Given the description of an element on the screen output the (x, y) to click on. 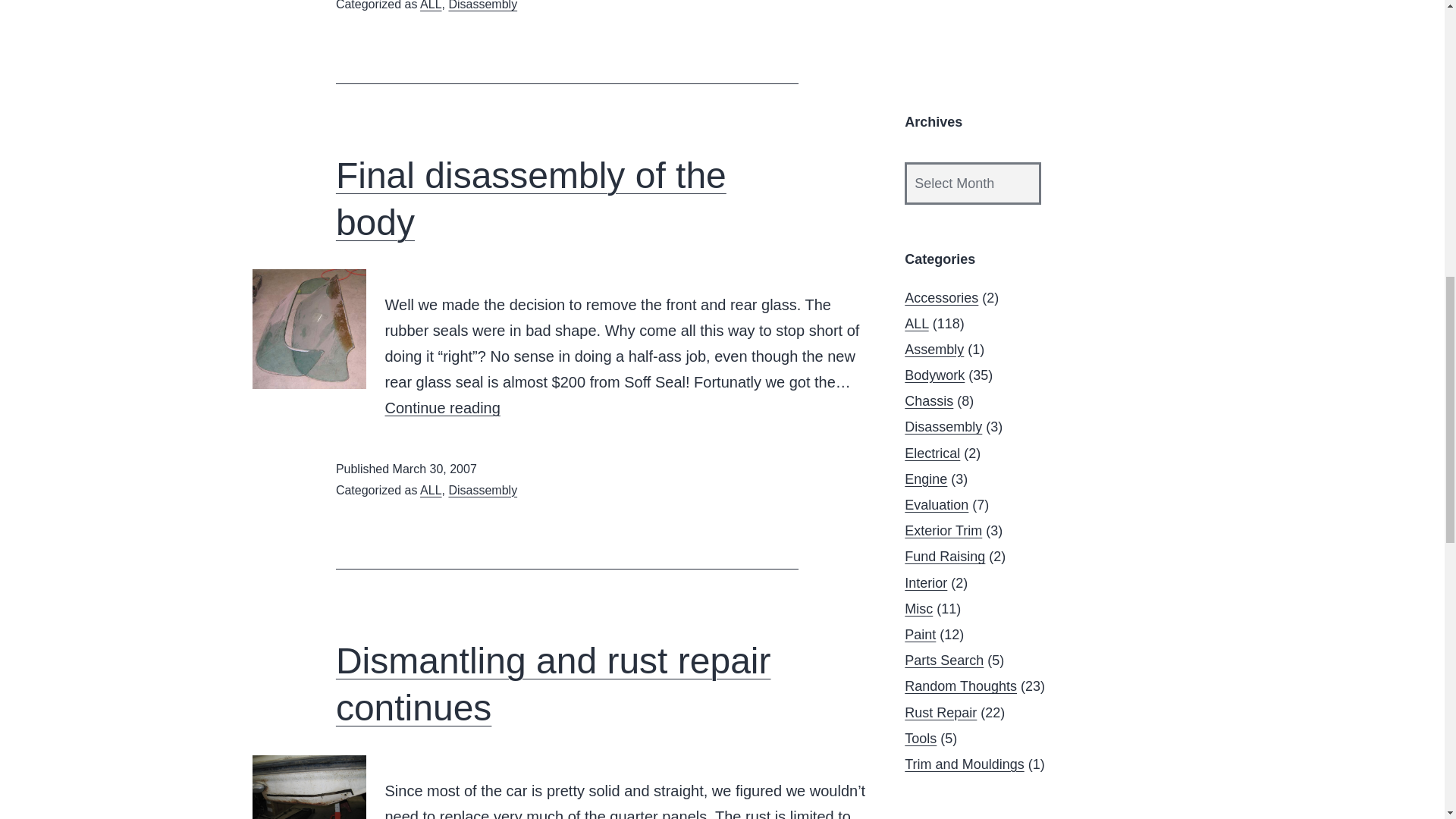
Disassembly (942, 426)
Chassis (928, 400)
Accessories (941, 297)
Front and rear windsheilds for the  (308, 329)
ALL (430, 490)
Assembly (933, 349)
Final disassembly of the body (531, 198)
Bodywork (933, 375)
Advertisement (1048, 45)
Dismantling and rust repair continues (553, 684)
ALL (442, 407)
Disassembly (430, 5)
Disassembly (482, 5)
ALL (482, 490)
